Given the description of an element on the screen output the (x, y) to click on. 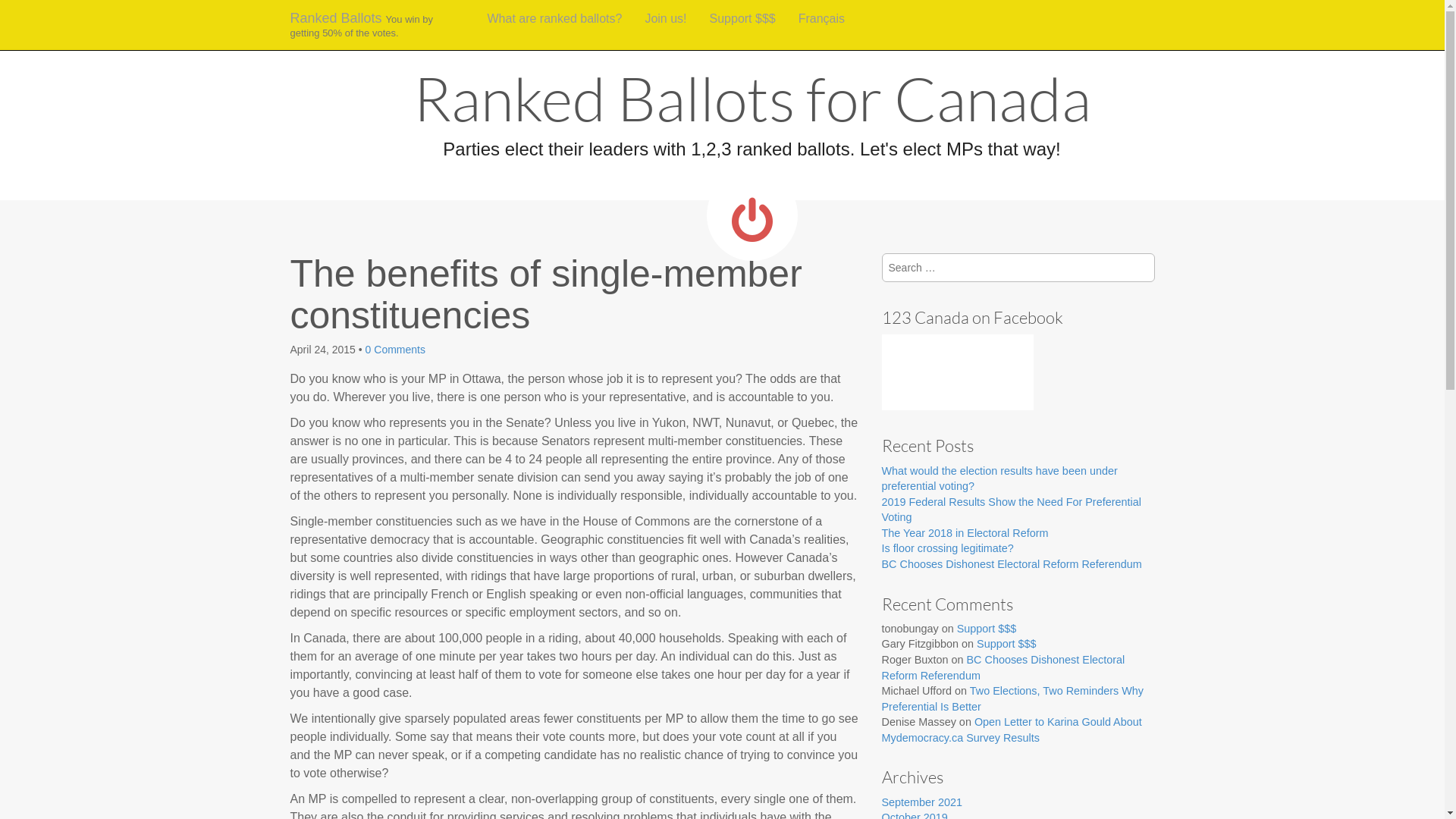
Support $$$ Element type: text (1005, 643)
BC Chooses Dishonest Electoral Reform Referendum Element type: text (1011, 564)
April 24, 2015 Element type: text (321, 349)
Ranked Ballots You win by getting 50% of the votes. Element type: text (377, 25)
What are ranked ballots? Element type: text (554, 18)
Skip to content Element type: text (516, 8)
Support $$$ Element type: text (986, 628)
2019 Federal Results Show the Need For Preferential Voting Element type: text (1010, 509)
Two Elections, Two Reminders Why Preferential Is Better Element type: text (1012, 698)
0 Comments Element type: text (395, 349)
Search for: Element type: hover (1017, 267)
Join us! Element type: text (665, 18)
Is floor crossing legitimate? Element type: text (947, 548)
Search Element type: text (23, 14)
123 Canada on Facebook Element type: text (971, 317)
The Year 2018 in Electoral Reform Element type: text (964, 533)
BC Chooses Dishonest Electoral Reform Referendum Element type: text (1002, 667)
Support $$$ Element type: text (742, 18)
September 2021 Element type: text (921, 802)
